Given the description of an element on the screen output the (x, y) to click on. 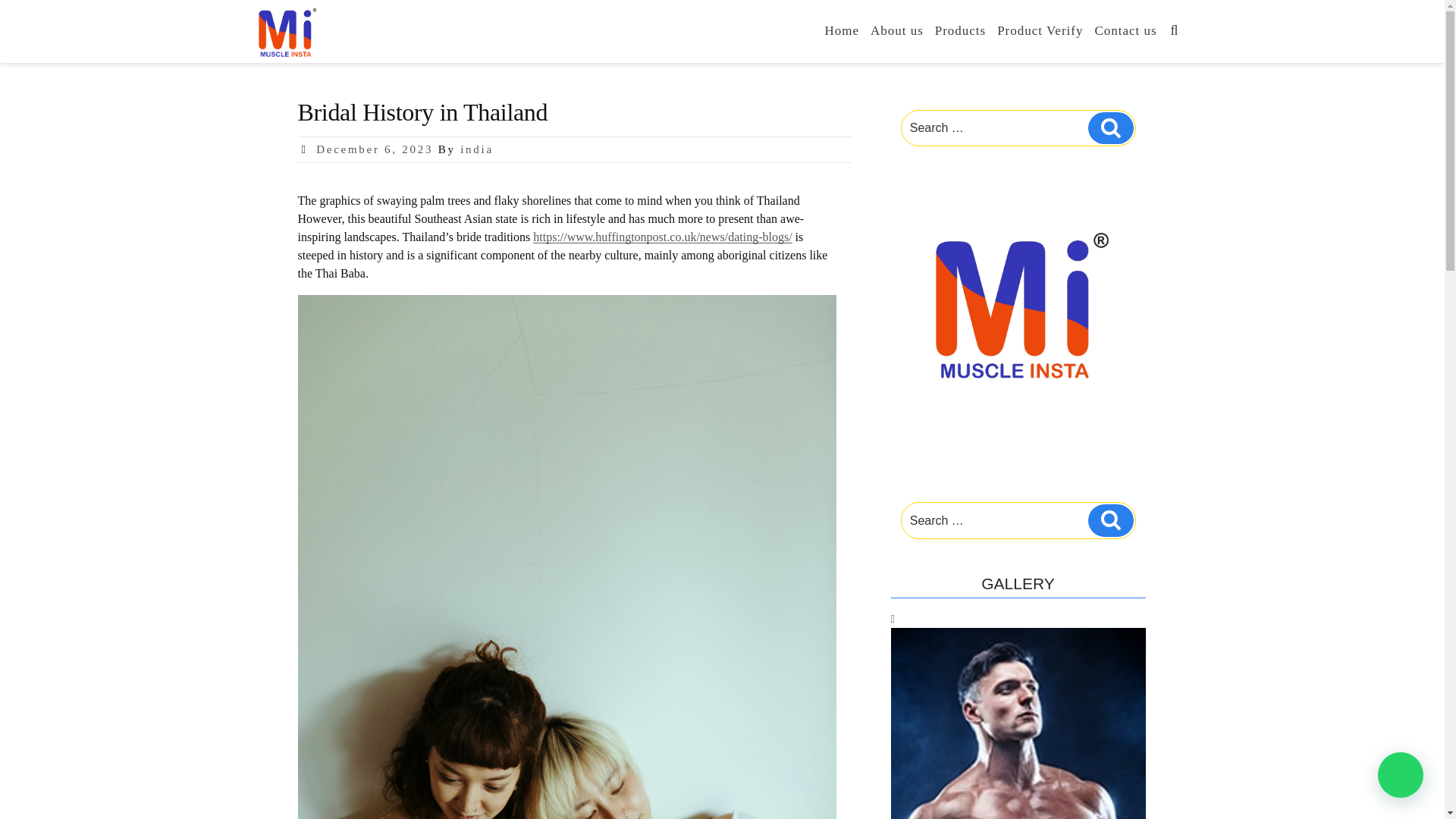
Product Verify (1039, 30)
Contact us (1125, 30)
About us (896, 30)
December 6, 2023 (373, 149)
Search (1109, 520)
india (476, 149)
Products (960, 30)
Home (842, 30)
Search (1109, 128)
